Given the description of an element on the screen output the (x, y) to click on. 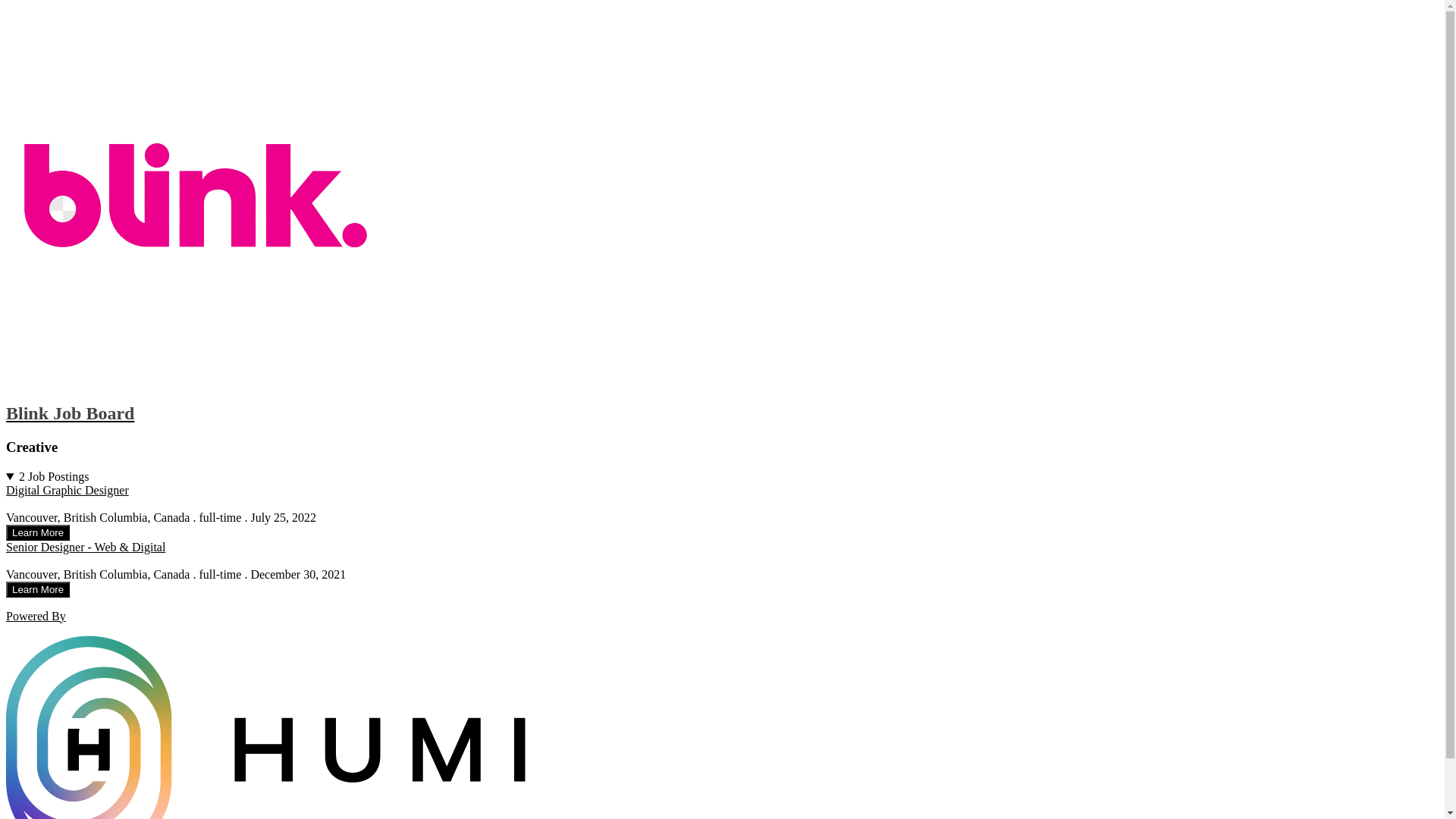
Learn More Element type: text (37, 588)
Senior Designer - Web & Digital Element type: text (85, 546)
Learn More Element type: text (37, 589)
Digital Graphic Designer Element type: text (67, 489)
Learn More Element type: text (37, 531)
Blink Job Board Element type: text (722, 214)
Learn More Element type: text (37, 532)
